Given the description of an element on the screen output the (x, y) to click on. 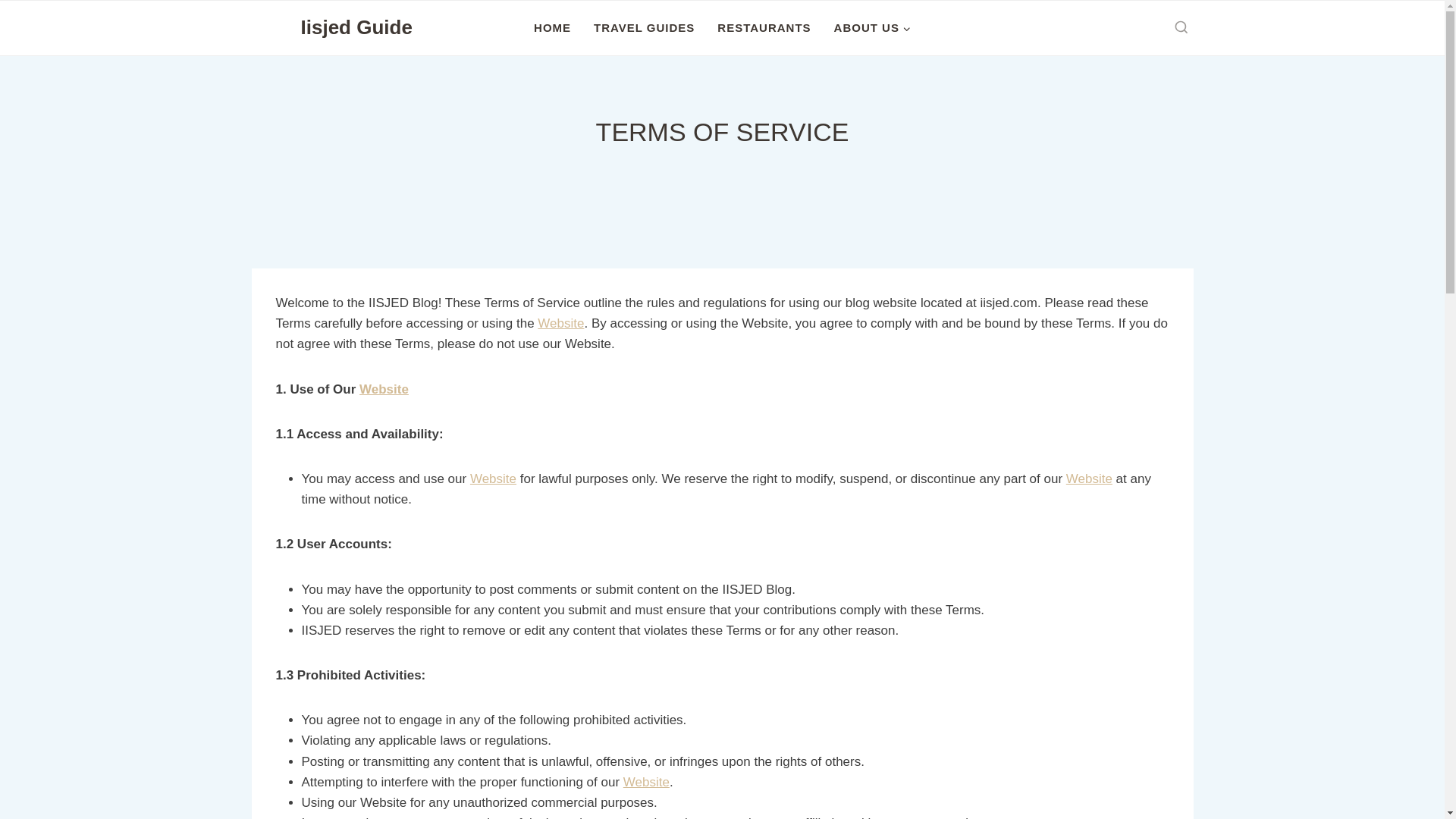
Website (384, 389)
HOME (552, 28)
Website (493, 478)
Website (560, 323)
Website (646, 781)
ABOUT US (871, 28)
Website (1088, 478)
RESTAURANTS (764, 28)
TRAVEL GUIDES (644, 28)
Iisjed Guide (334, 28)
